Given the description of an element on the screen output the (x, y) to click on. 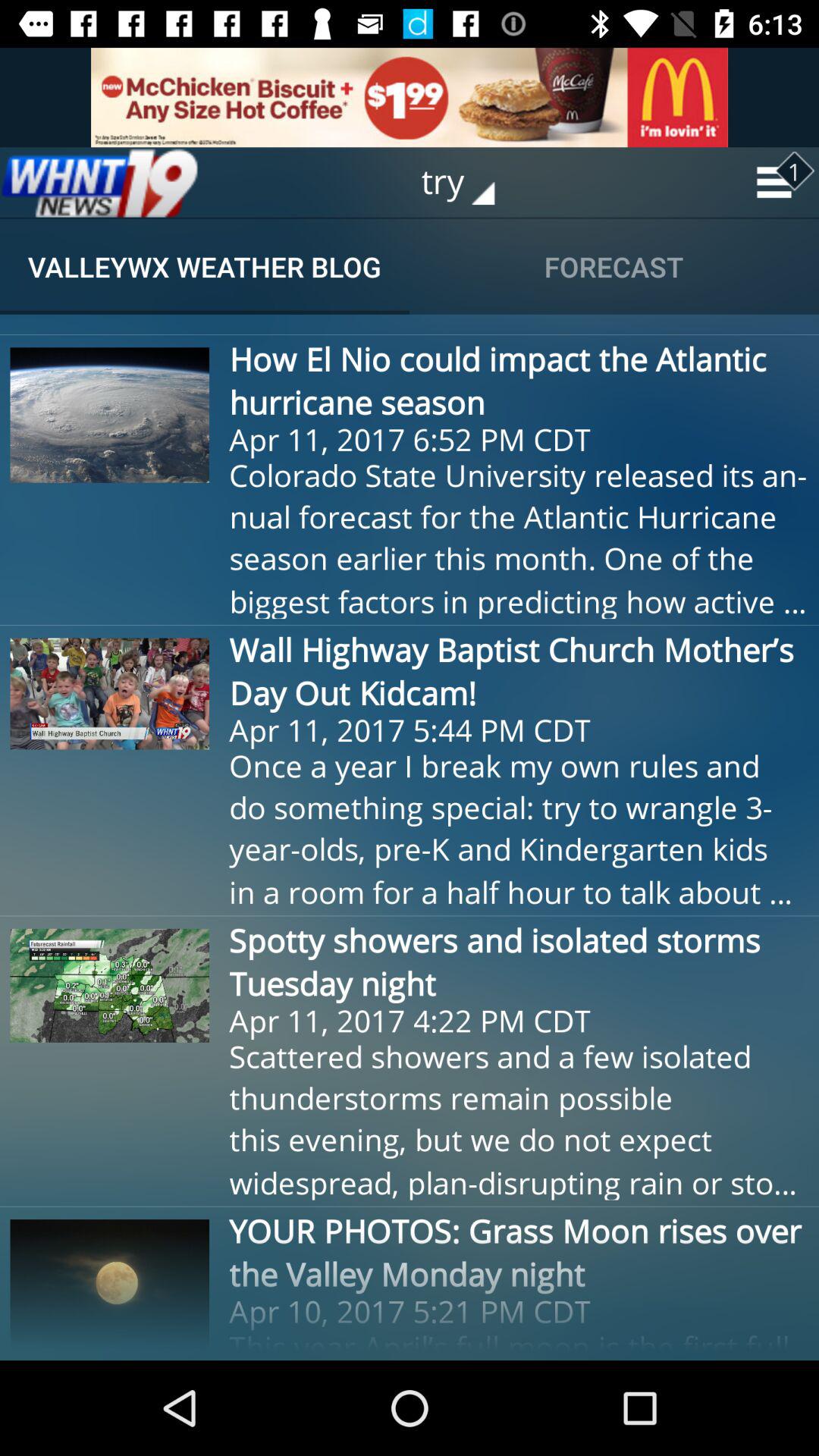
open advertisement (409, 97)
